Given the description of an element on the screen output the (x, y) to click on. 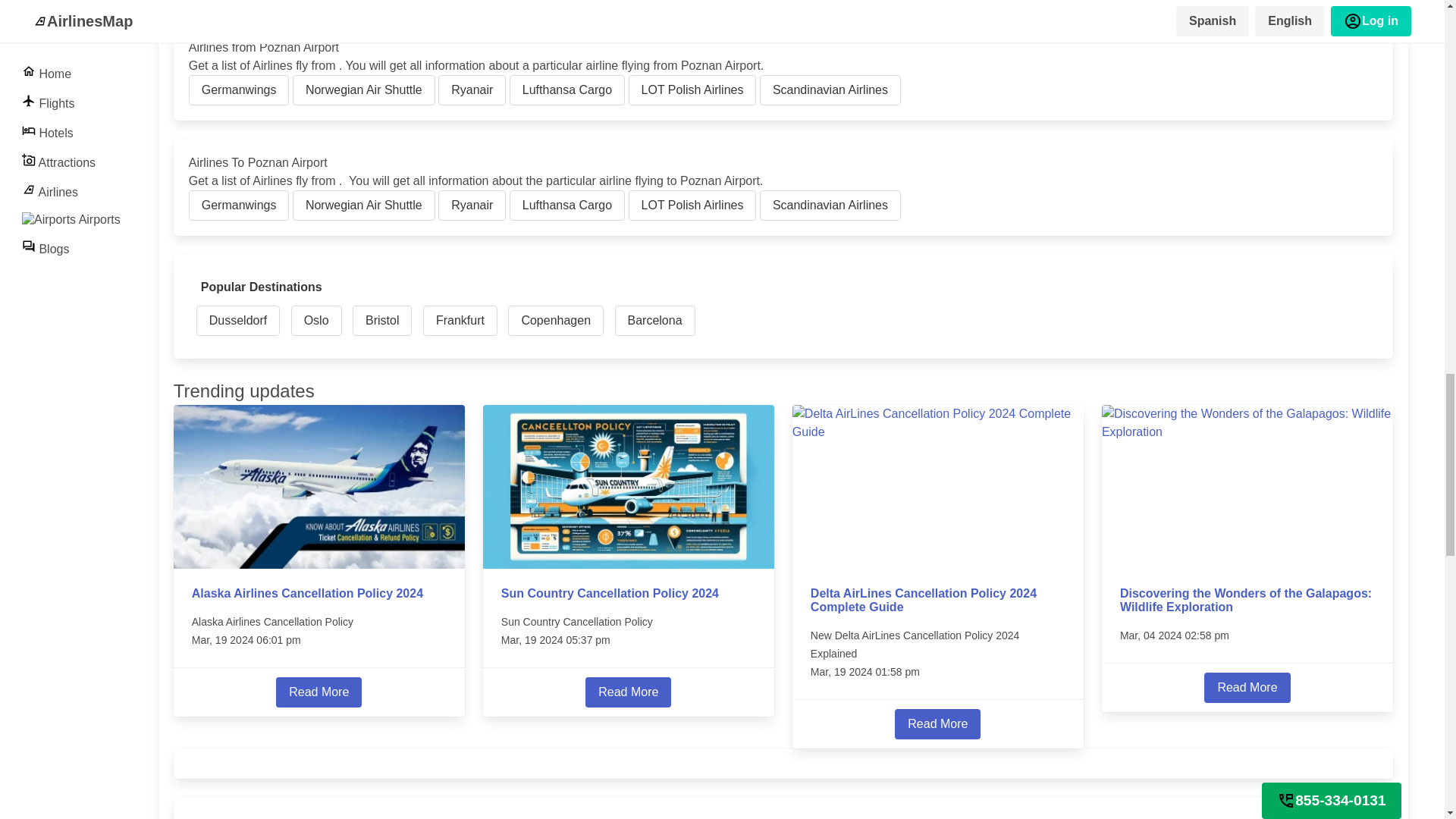
LOT Polish Airlines (692, 90)
Germanwings (239, 205)
Scandinavian Airlines (830, 90)
Scandinavian Airlines (830, 205)
Oslo (316, 320)
Germanwings (239, 90)
Lufthansa Cargo (566, 205)
LOT Polish Airlines (692, 205)
Lufthansa Cargo (566, 90)
Ryanair (471, 205)
